Given the description of an element on the screen output the (x, y) to click on. 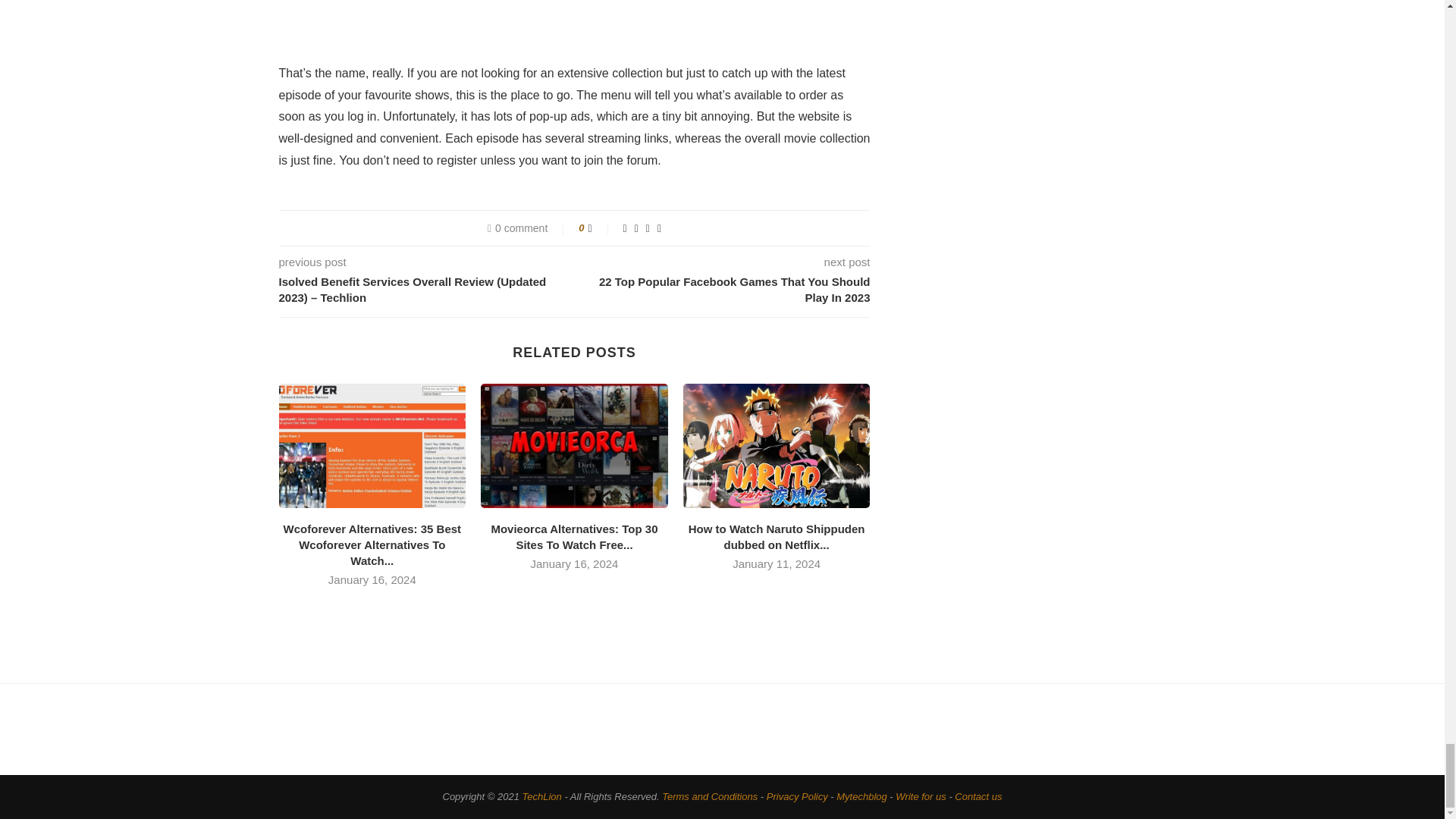
Like (600, 227)
How to Watch Naruto Shippuden dubbed on Netflix 2023 (776, 445)
